Given the description of an element on the screen output the (x, y) to click on. 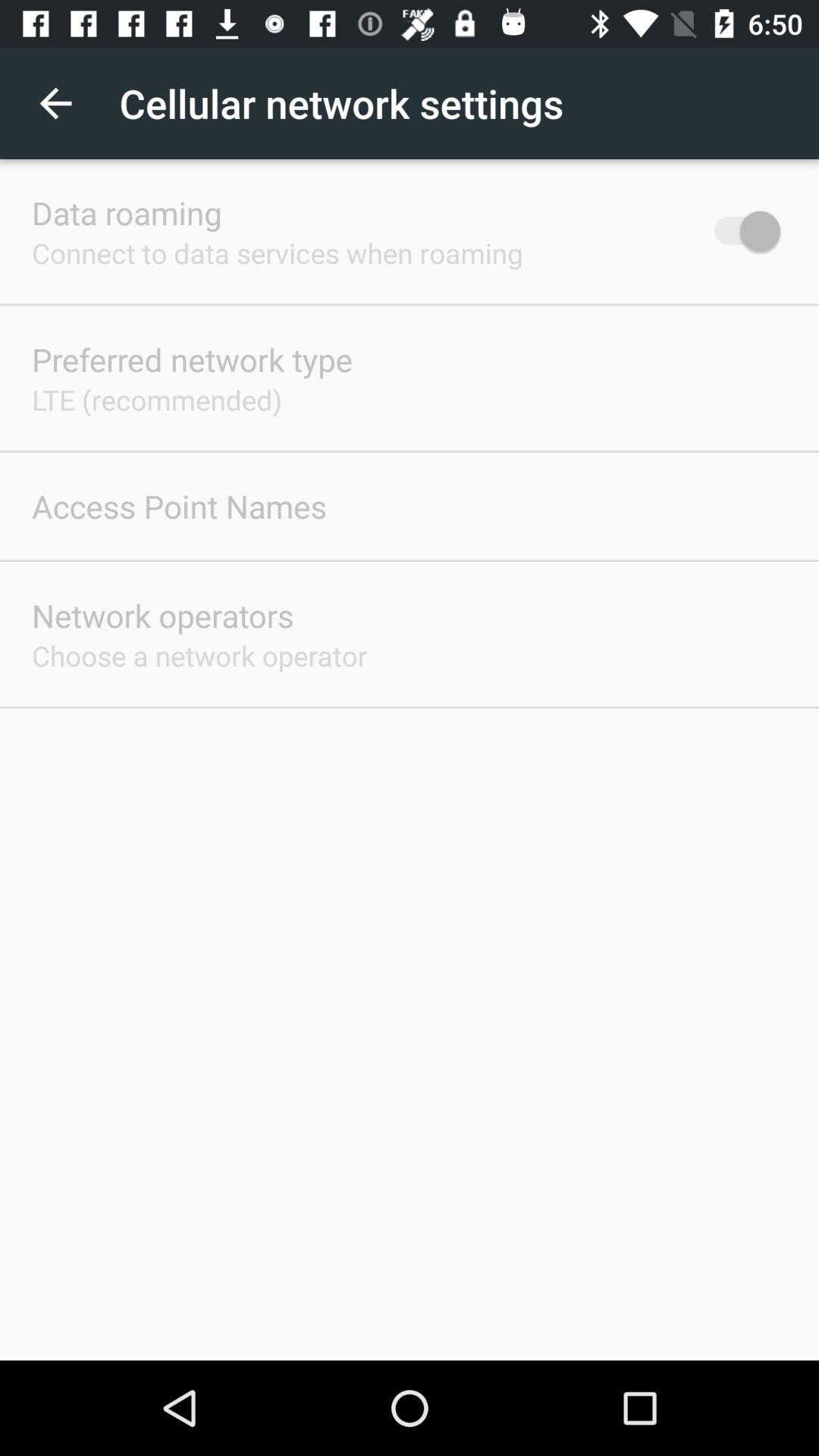
open the icon to the right of connect to data icon (739, 231)
